Given the description of an element on the screen output the (x, y) to click on. 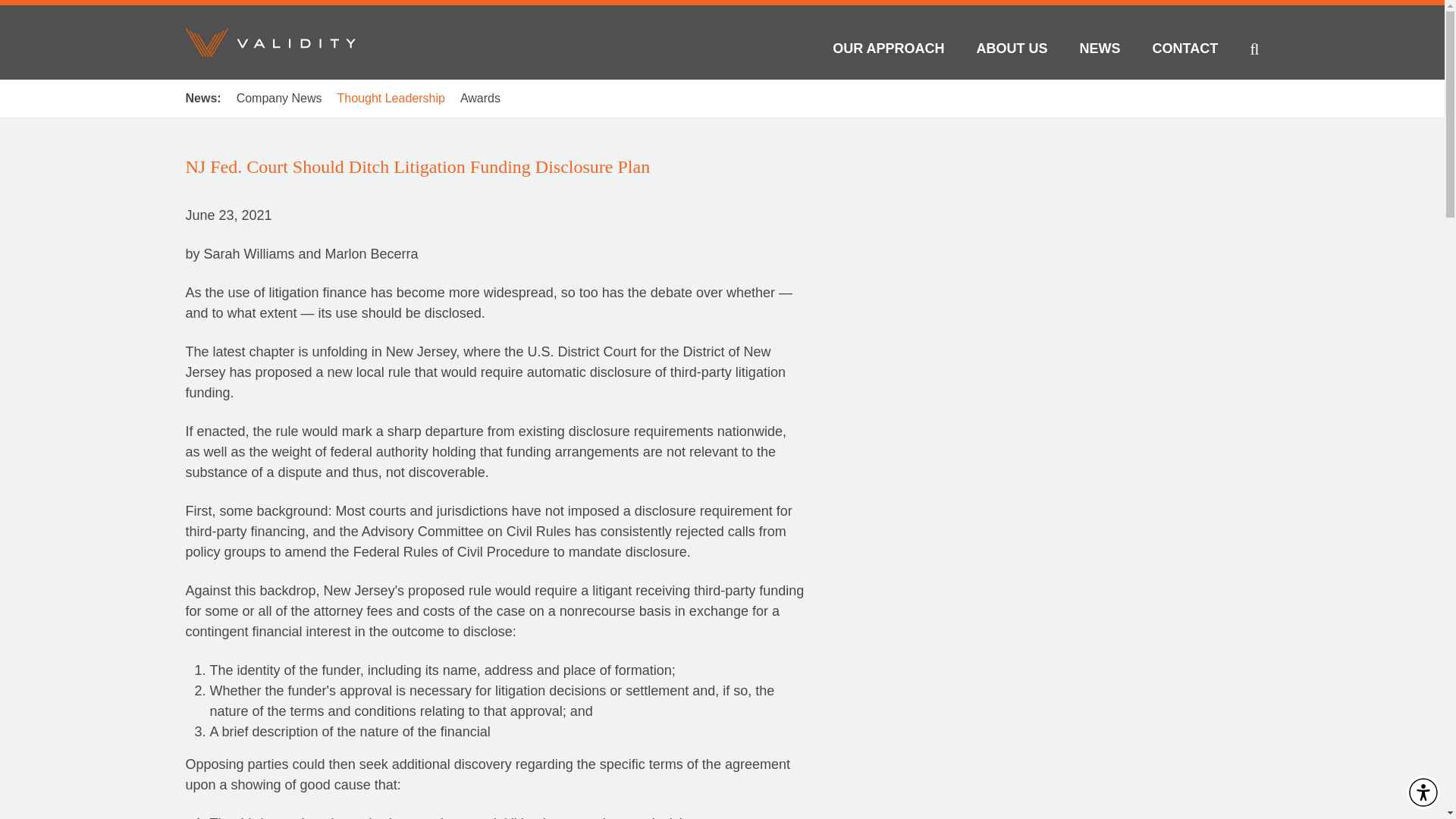
Accessibility Menu (1422, 792)
Company News (278, 98)
OUR APPROACH (887, 51)
ABOUT US (1012, 51)
News: (202, 98)
CONTACT (1185, 51)
NEWS (1100, 51)
